Given the description of an element on the screen output the (x, y) to click on. 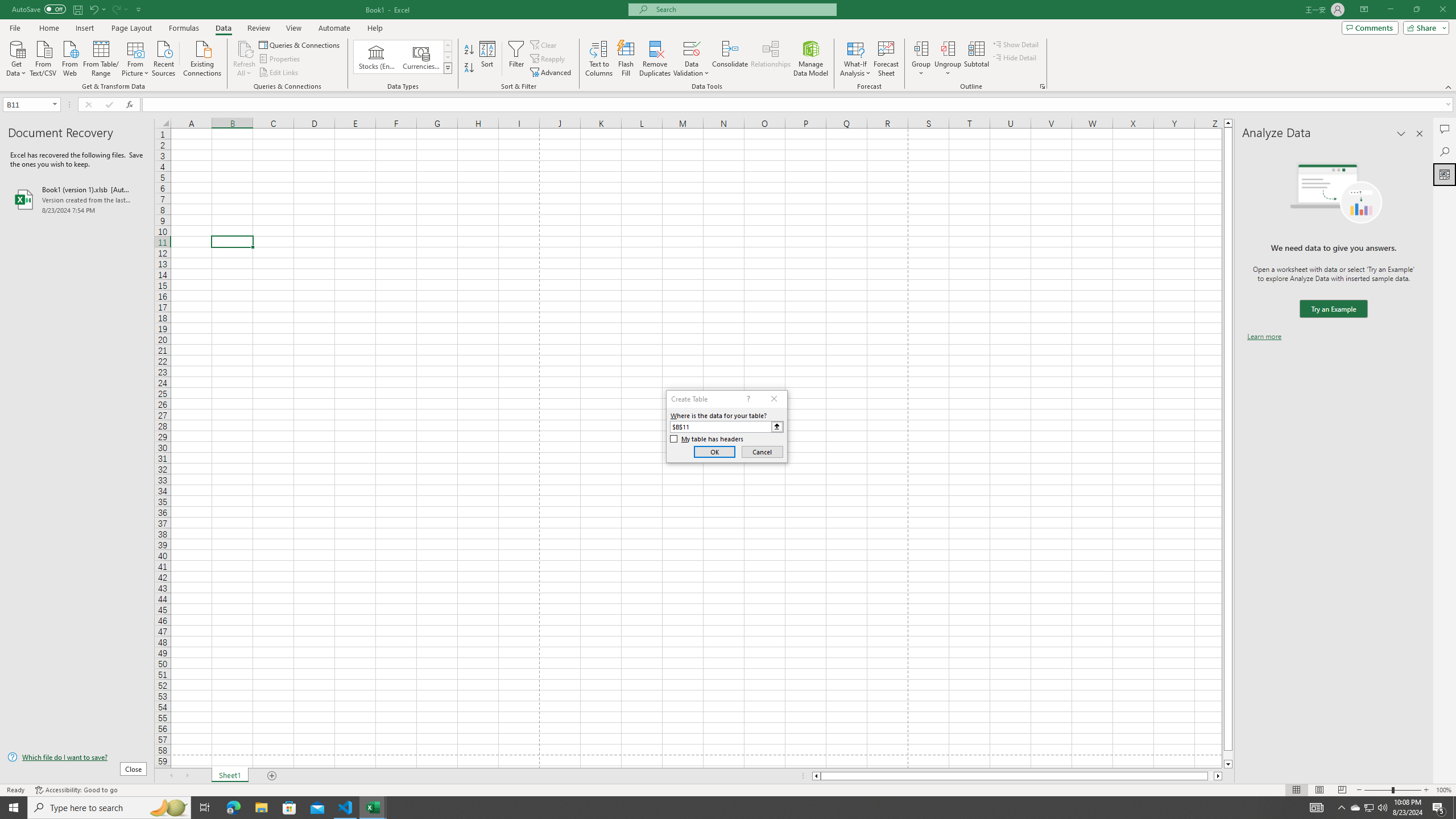
Properties (280, 58)
Recent Sources (163, 57)
AutomationID: ConvertToLinkedEntity (403, 56)
From Text/CSV (43, 57)
Forecast Sheet (885, 58)
